Given the description of an element on the screen output the (x, y) to click on. 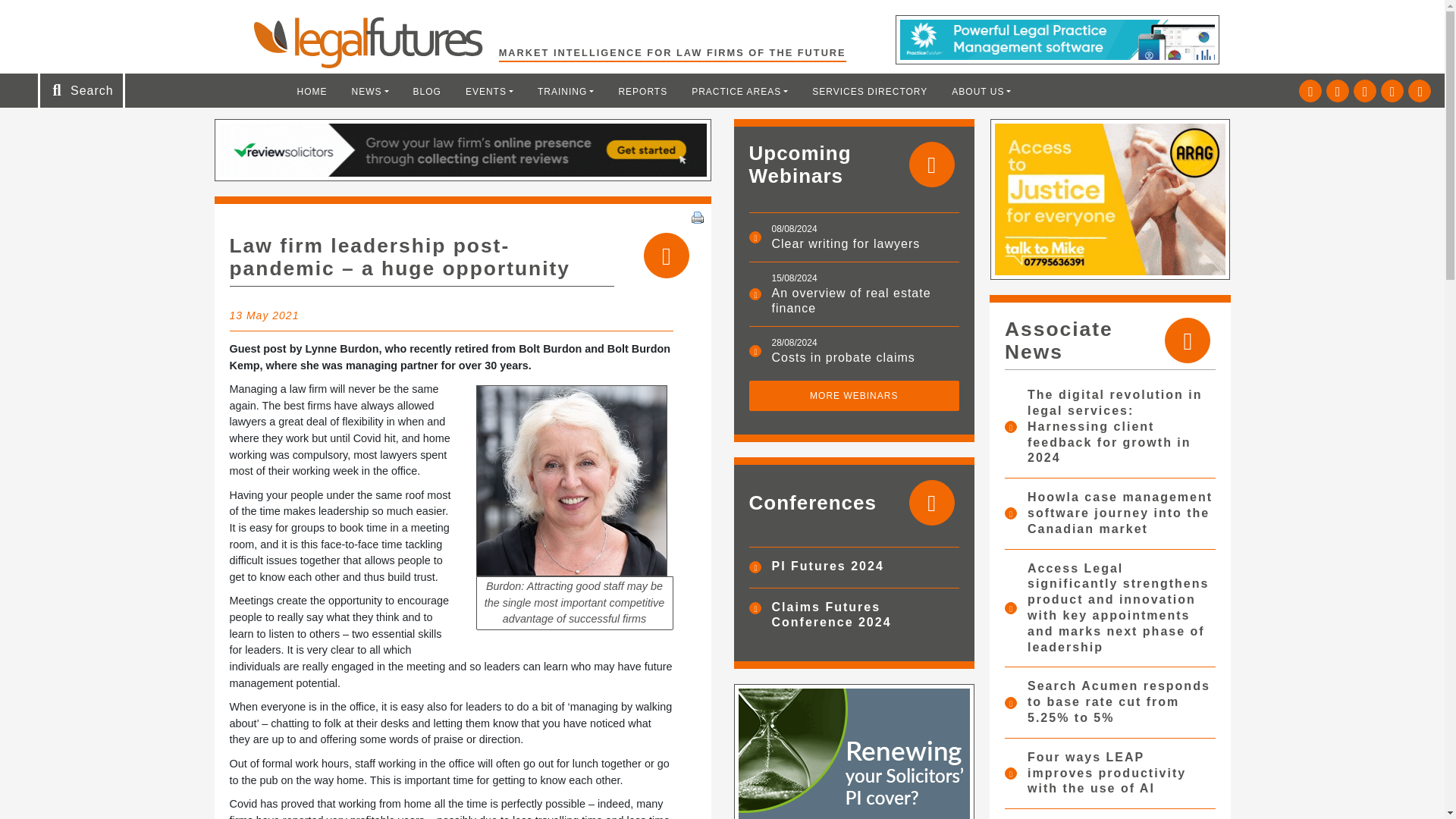
HOME (312, 91)
NEWS (370, 91)
See Legal Futures on Youtube (1391, 90)
SERVICES DIRECTORY (869, 91)
See Legal Futures on Twitter (1310, 90)
Blog (426, 91)
Events (488, 91)
See Legal Futures on Linkedin-in (1337, 90)
Legal Futures homepage (375, 42)
See Legal Futures on Rss (1419, 90)
Home (312, 91)
EVENTS (488, 91)
training (565, 91)
Search (51, 16)
See Legal Futures on Facebook-f (1364, 90)
